Given the description of an element on the screen output the (x, y) to click on. 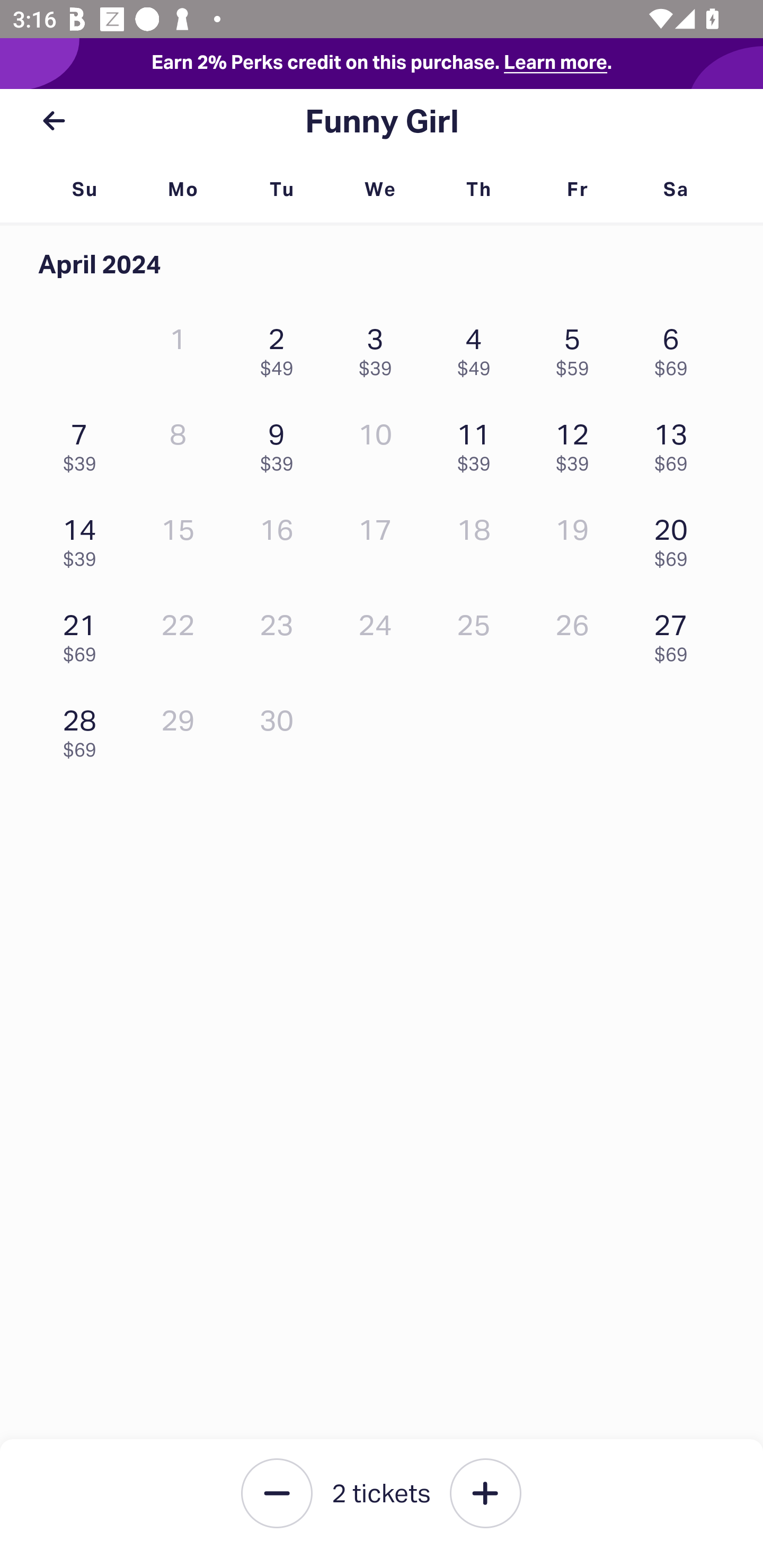
Earn 2% Perks credit on this purchase. Learn more. (381, 63)
back button (53, 120)
2 $49 (281, 347)
3 $39 (379, 347)
4 $49 (478, 347)
5 $59 (577, 347)
6 $69 (675, 347)
7 $39 (84, 442)
9 $39 (281, 442)
11 $39 (478, 442)
12 $39 (577, 442)
13 $69 (675, 442)
14 $39 (84, 538)
20 $69 (675, 538)
21 $69 (84, 633)
27 $69 (675, 633)
28 $69 (84, 728)
